Given the description of an element on the screen output the (x, y) to click on. 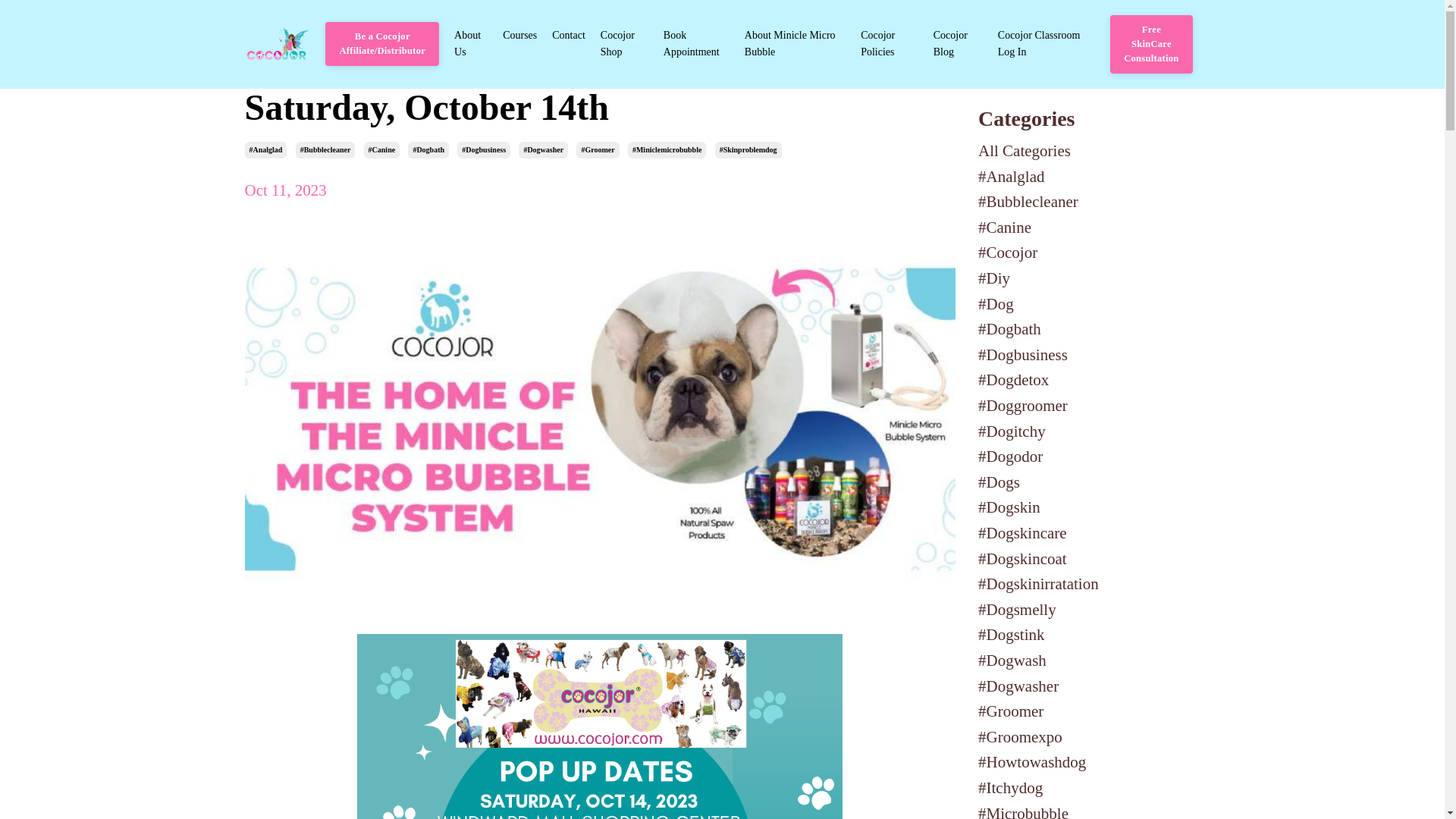
Cocojor Blog (957, 44)
Contact (568, 44)
Cocojor Shop (623, 44)
Book Appointment (696, 44)
Free SkinCare Consultation (1150, 44)
About Minicle Micro Bubble (794, 44)
Cocojor Classroom Log In (1045, 44)
Courses (519, 44)
Cocojor Policies (889, 44)
About Us (470, 44)
